Given the description of an element on the screen output the (x, y) to click on. 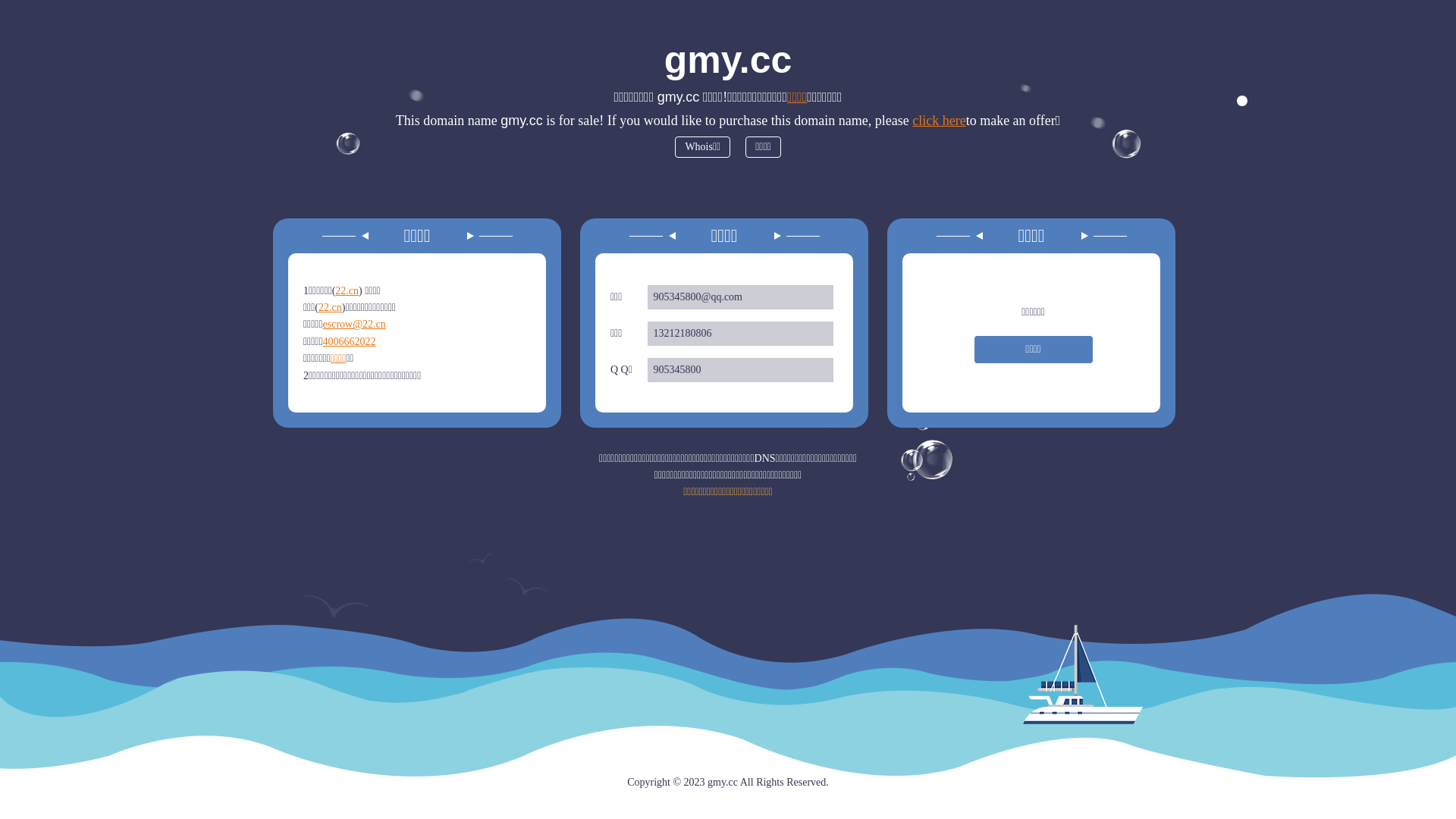
click here Element type: text (938, 120)
22.cn Element type: text (346, 290)
4006662022 Element type: text (349, 341)
22.cn Element type: text (330, 307)
escrow@22.cn Element type: text (354, 323)
